Given the description of an element on the screen output the (x, y) to click on. 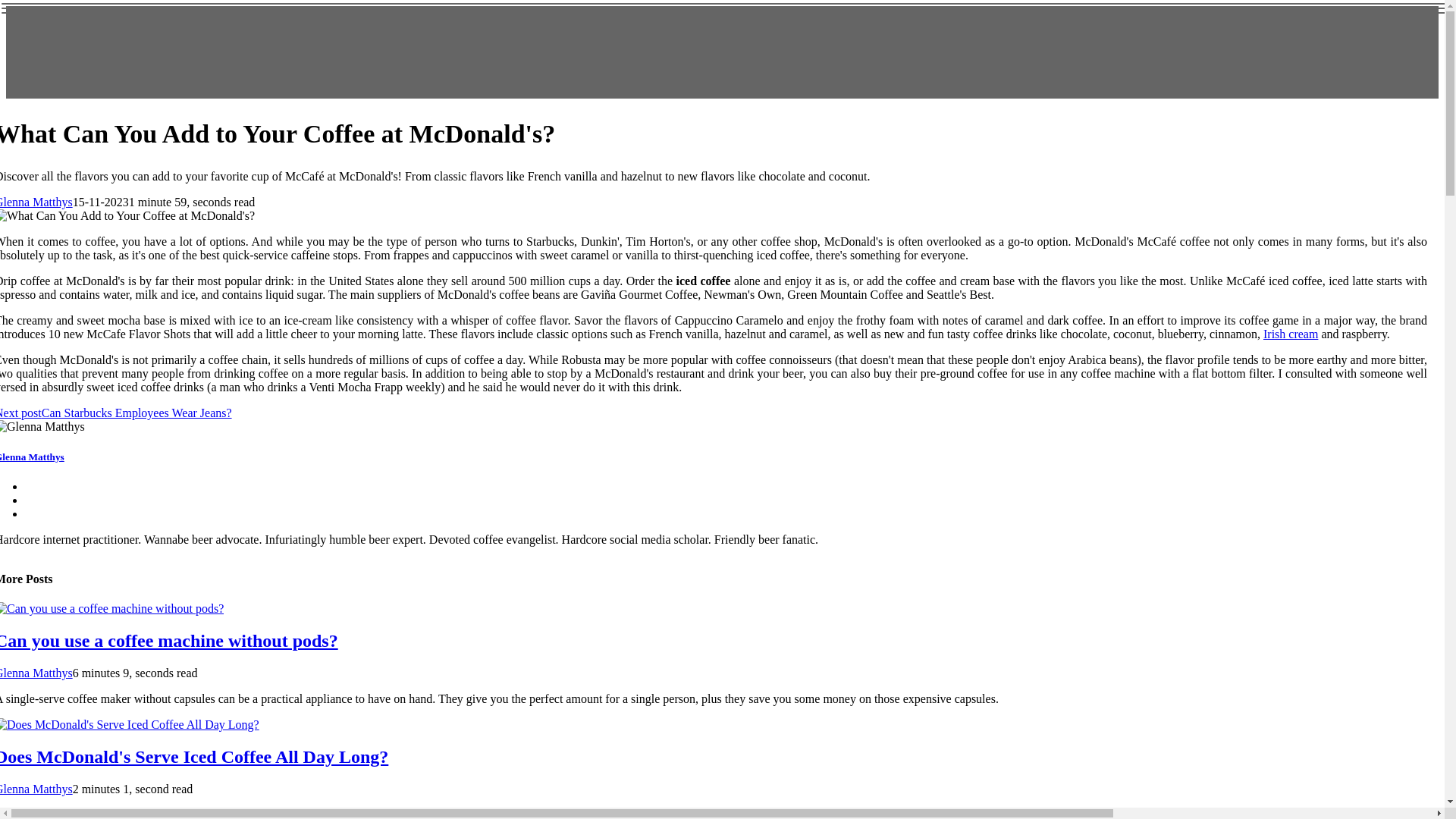
Glenna Matthys (36, 201)
Glenna Matthys (36, 672)
Glenna Matthys (36, 788)
Posts by Glenna Matthys (36, 201)
Posts by Glenna Matthys (36, 788)
Does McDonald's Serve Iced Coffee All Day Long? (194, 756)
Irish cream (1290, 333)
Posts by Glenna Matthys (36, 672)
Glenna Matthys (32, 456)
Next postCan Starbucks Employees Wear Jeans? (115, 412)
